Given the description of an element on the screen output the (x, y) to click on. 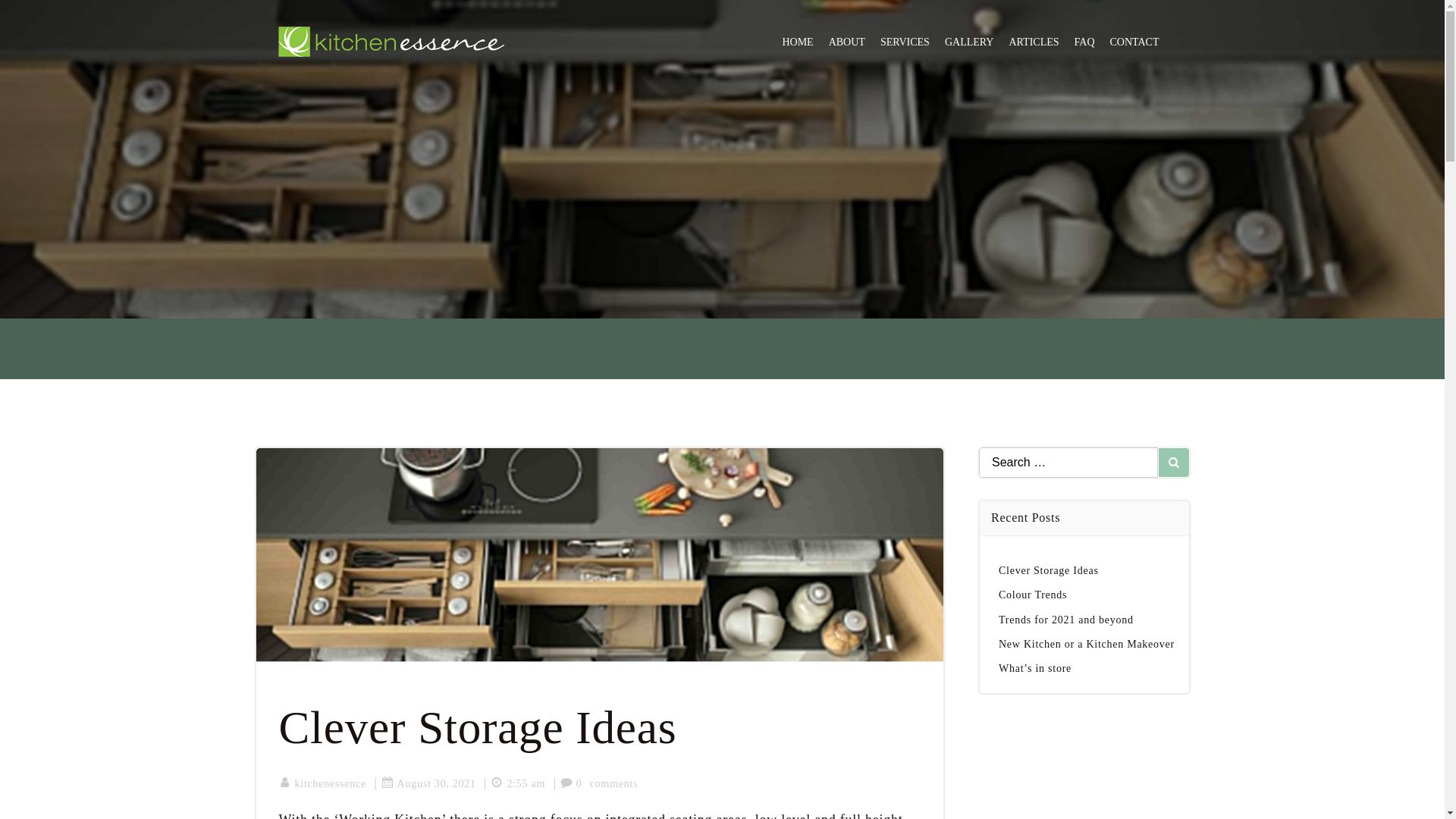
Colour Trends (1032, 594)
2:55 am (517, 783)
ARTICLES (1033, 41)
New Kitchen or a Kitchen Makeover (1086, 644)
GALLERY (969, 41)
CONTACT (1133, 41)
August 30, 2021 (428, 783)
SERVICES (905, 41)
Clever Storage Ideas (600, 727)
Search  (30, 15)
